Given the description of an element on the screen output the (x, y) to click on. 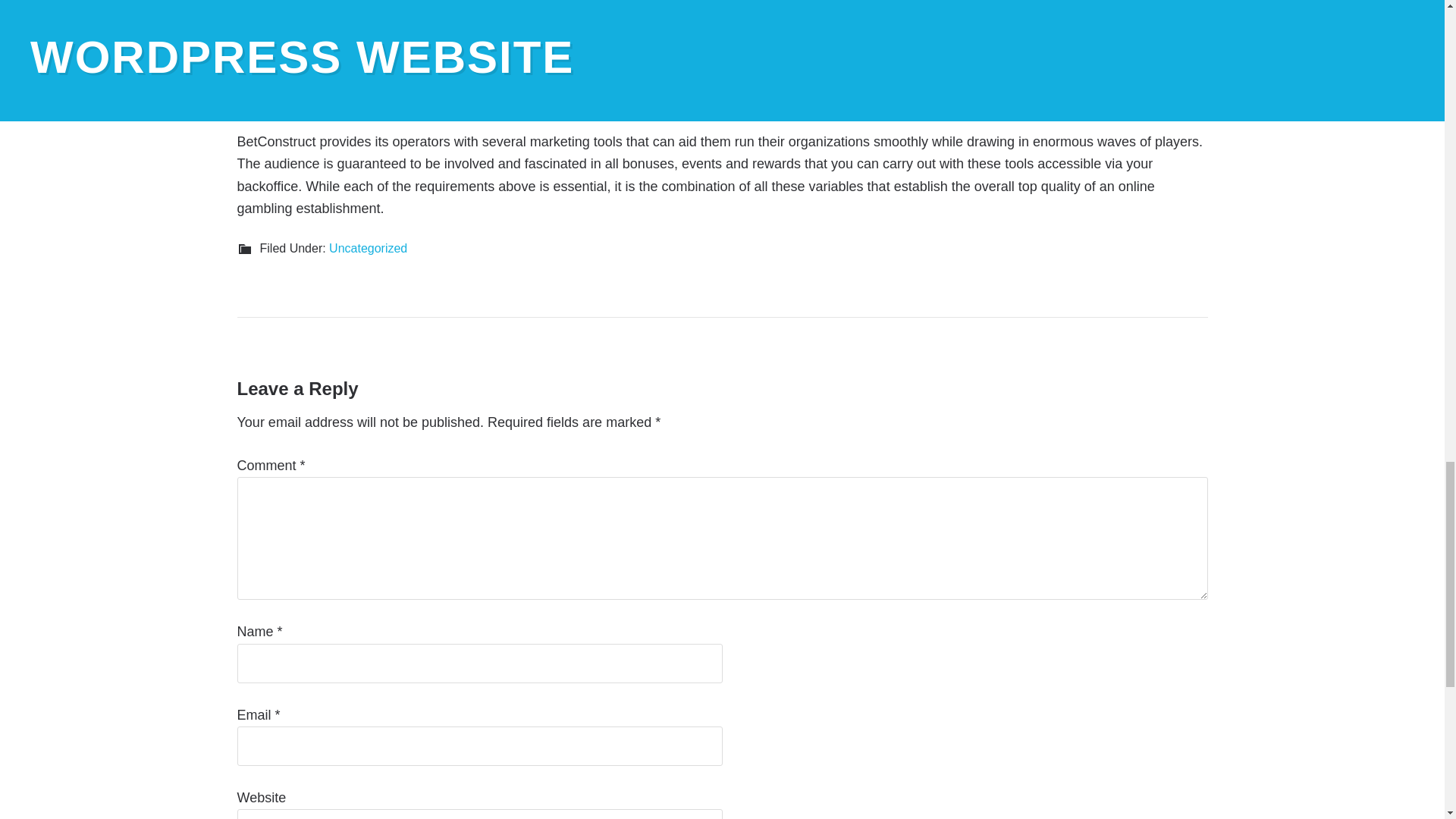
Uncategorized (368, 247)
